Given the description of an element on the screen output the (x, y) to click on. 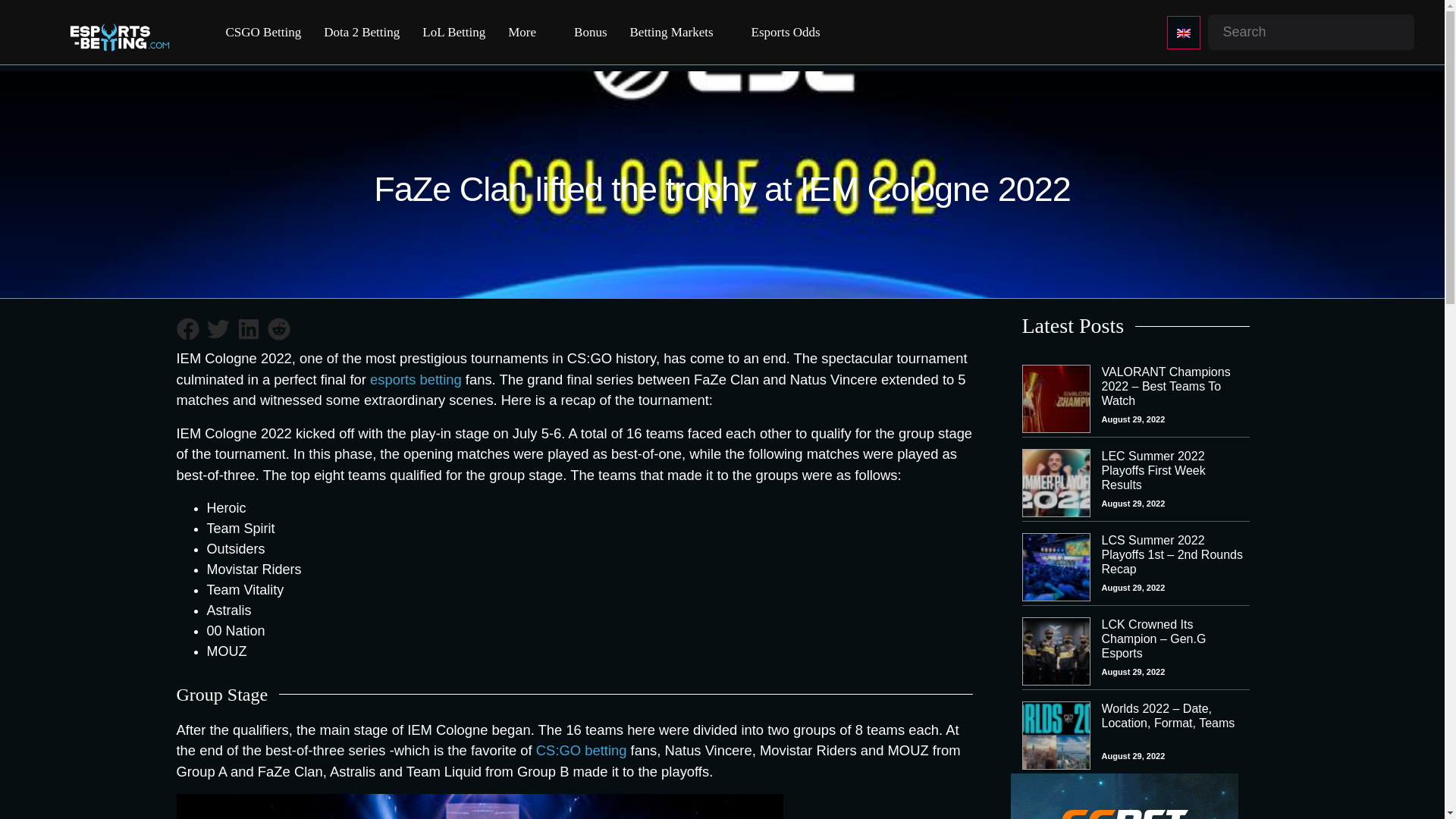
Share on LinkedIn (247, 328)
CS:GO betting (581, 750)
LoL Betting (453, 32)
esports betting (415, 379)
Bonus (589, 32)
Share on Facebook (187, 328)
Share on Reddit (277, 328)
CSGO Betting (263, 32)
Dota 2 Betting (361, 32)
Betting Markets (671, 32)
More (521, 32)
Esports Odds (785, 32)
Share on Twitter (217, 328)
Search (13, 12)
